Given the description of an element on the screen output the (x, y) to click on. 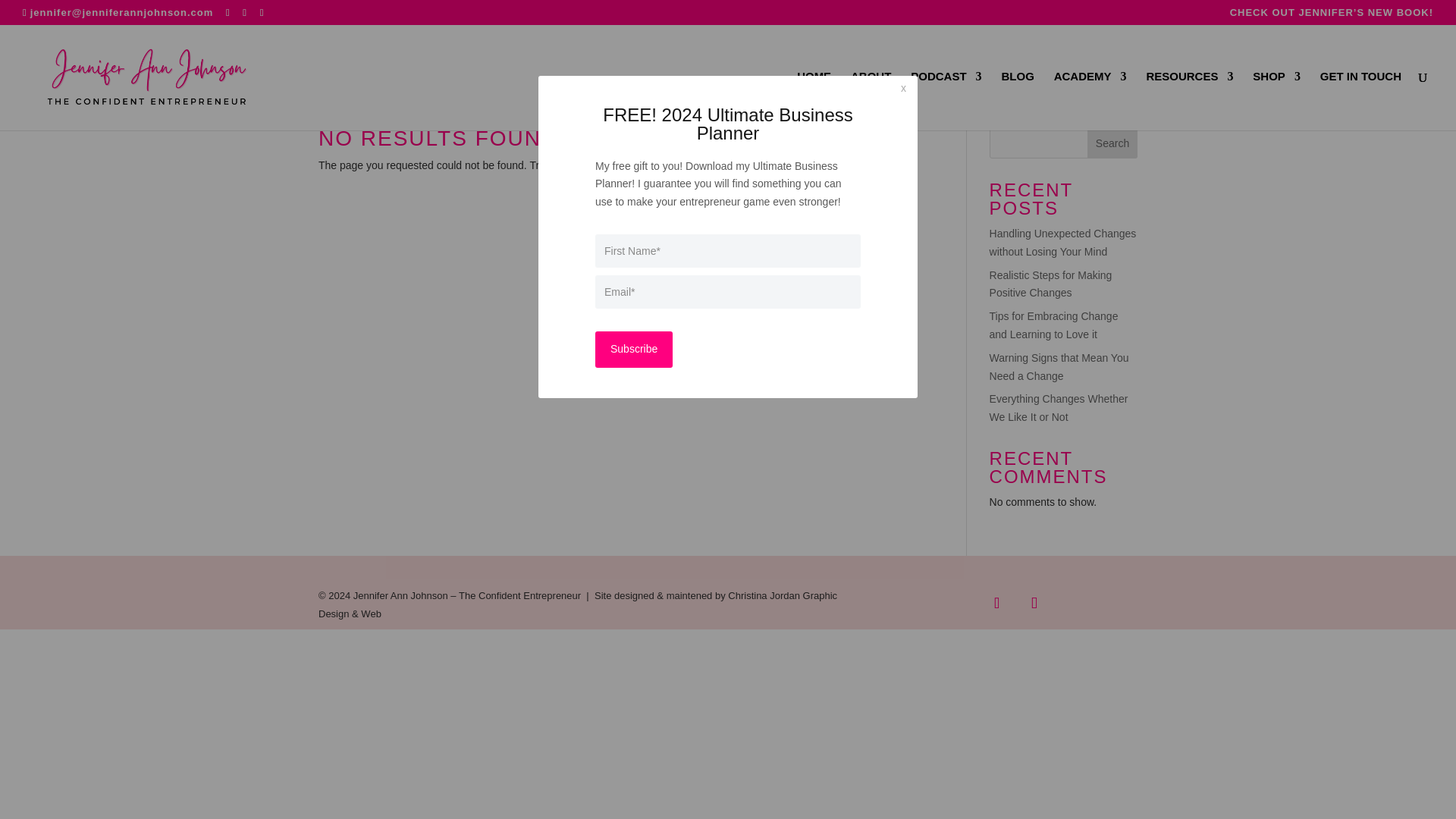
GET IN TOUCH (1360, 100)
PODCAST (946, 100)
Follow on Instagram (1033, 603)
RESOURCES (1189, 100)
Follow on Facebook (996, 603)
Subscribe (633, 349)
ACADEMY (1090, 100)
